Given the description of an element on the screen output the (x, y) to click on. 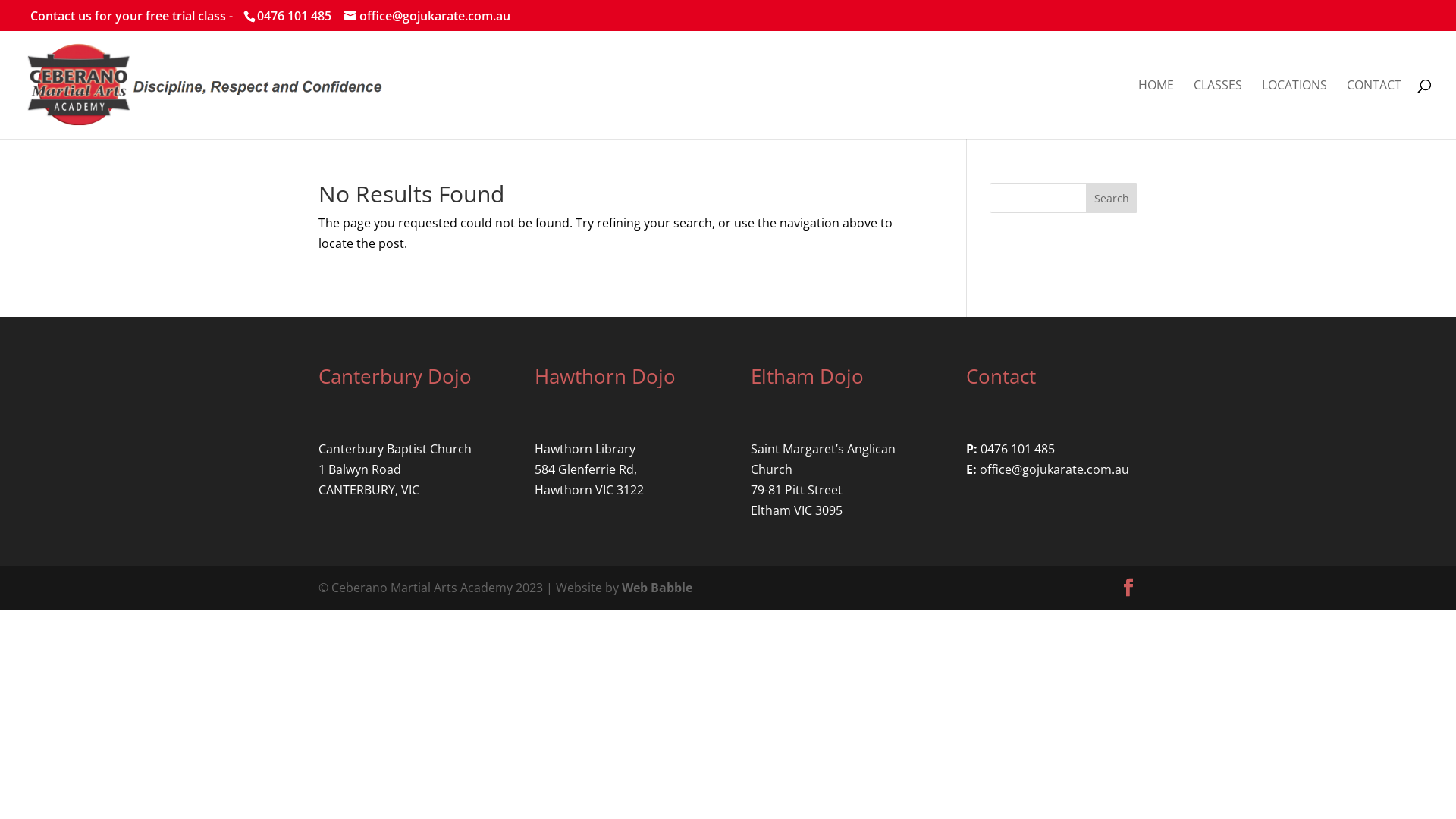
CLASSES Element type: text (1217, 108)
HOME Element type: text (1155, 108)
0476 101 485 Element type: text (1017, 448)
office@gojukarate.com.au Element type: text (427, 15)
LOCATIONS Element type: text (1294, 108)
CONTACT Element type: text (1373, 108)
0476 101 485 Element type: text (292, 15)
Search Element type: text (1111, 197)
Web Babble Element type: text (656, 587)
office@gojukarate.com.au Element type: text (1054, 469)
